Given the description of an element on the screen output the (x, y) to click on. 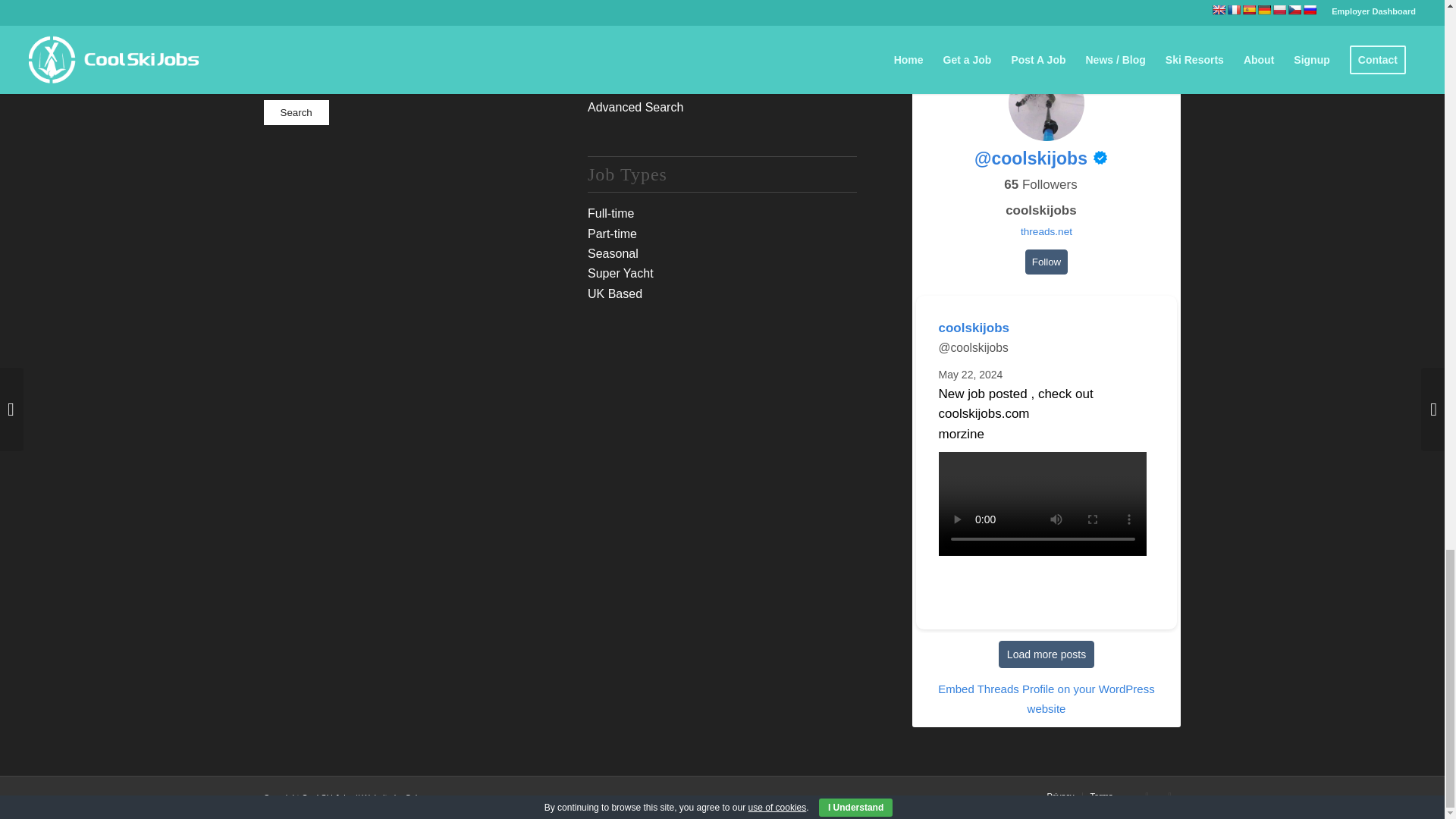
Search (296, 112)
